Given the description of an element on the screen output the (x, y) to click on. 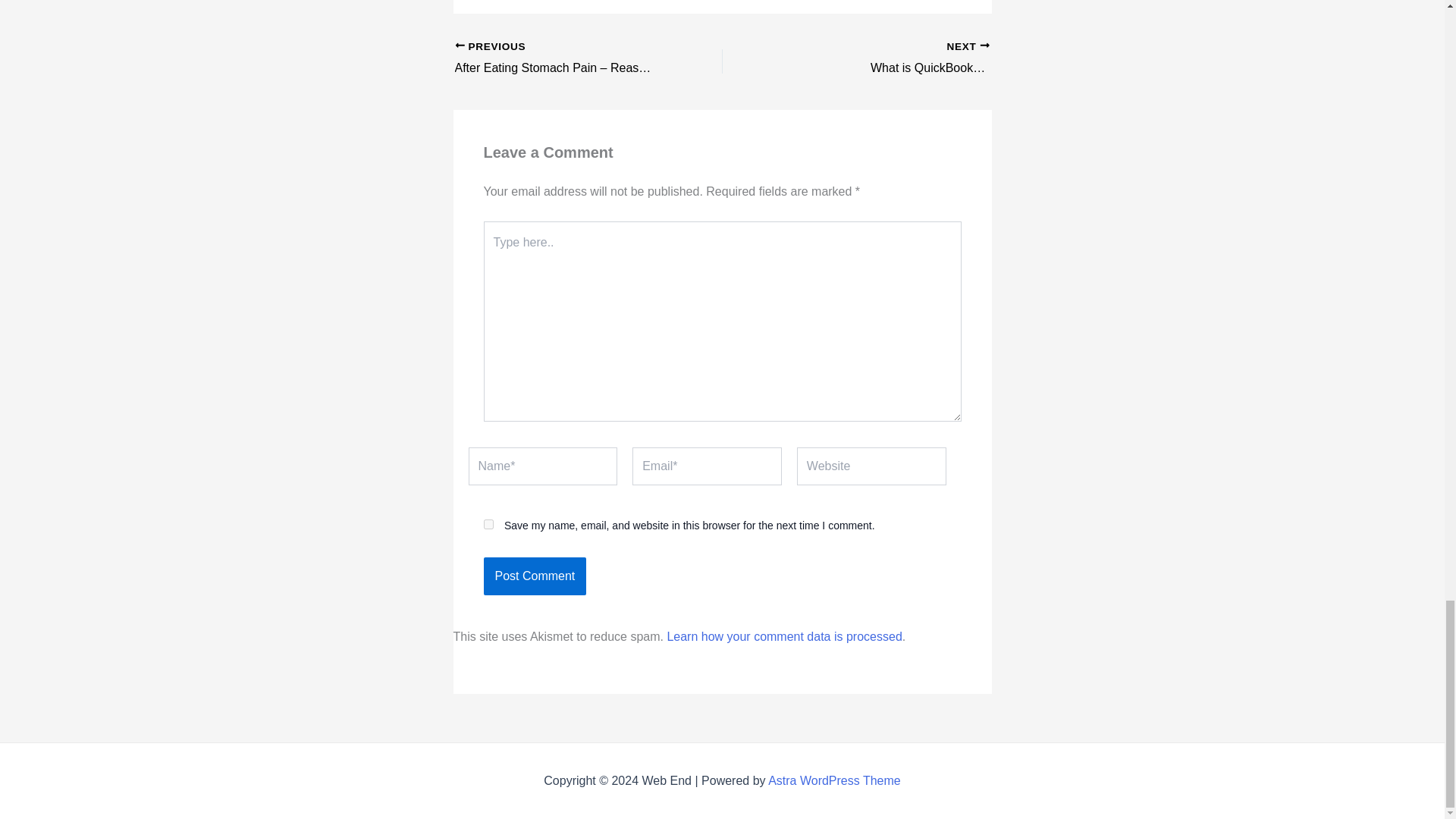
After Eating Stomach Pain - Reasons and Treatment (561, 58)
yes (488, 524)
Astra WordPress Theme (834, 780)
Learn how your comment data is processed (783, 635)
Post Comment (534, 576)
Post Comment (534, 576)
